Given the description of an element on the screen output the (x, y) to click on. 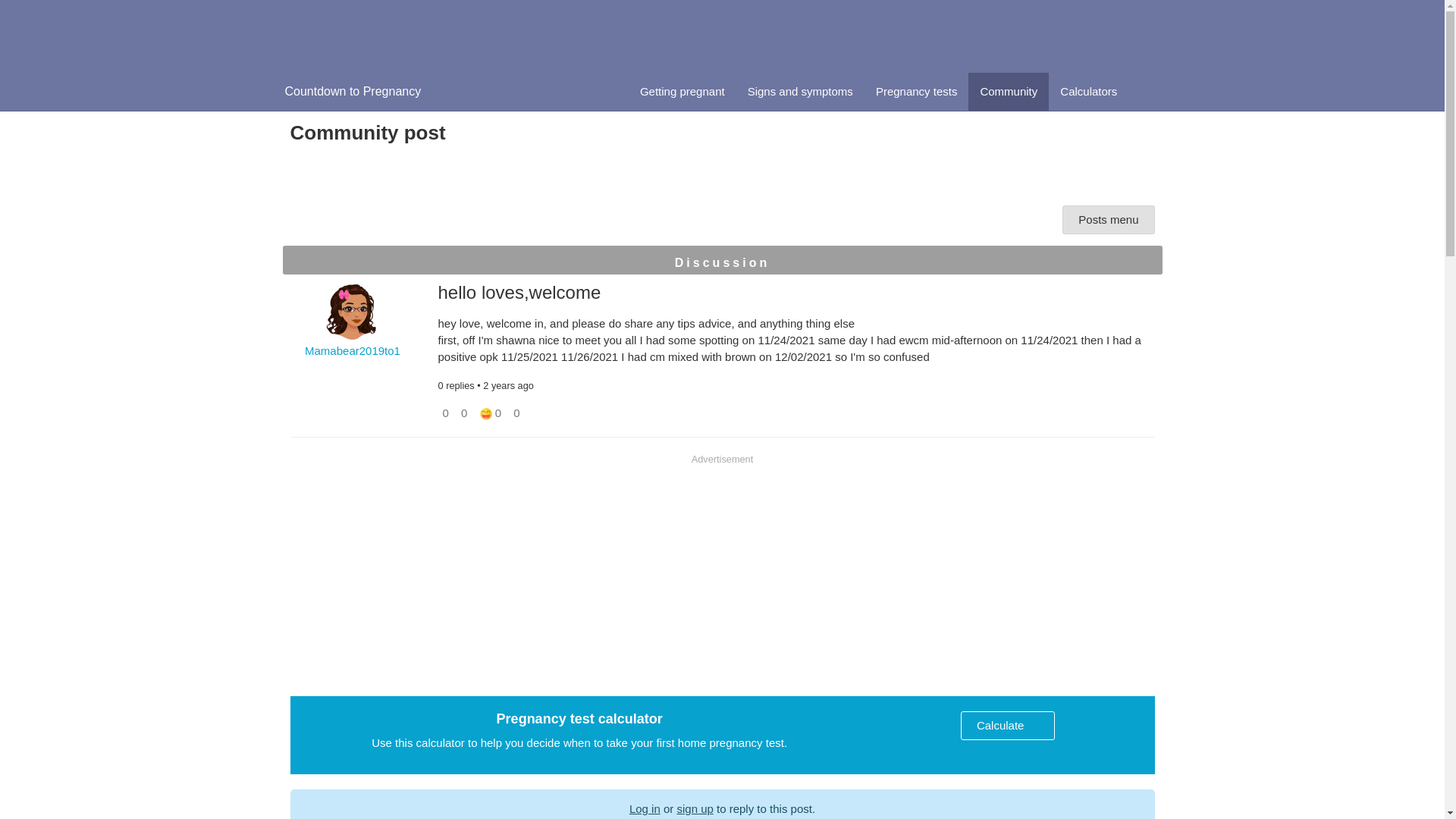
Community (1008, 91)
Signs and symptoms (800, 91)
Getting pregnant (682, 91)
Countdown to Pregnancy (352, 91)
Pregnancy tests (916, 91)
Calculators (1088, 91)
